Given the description of an element on the screen output the (x, y) to click on. 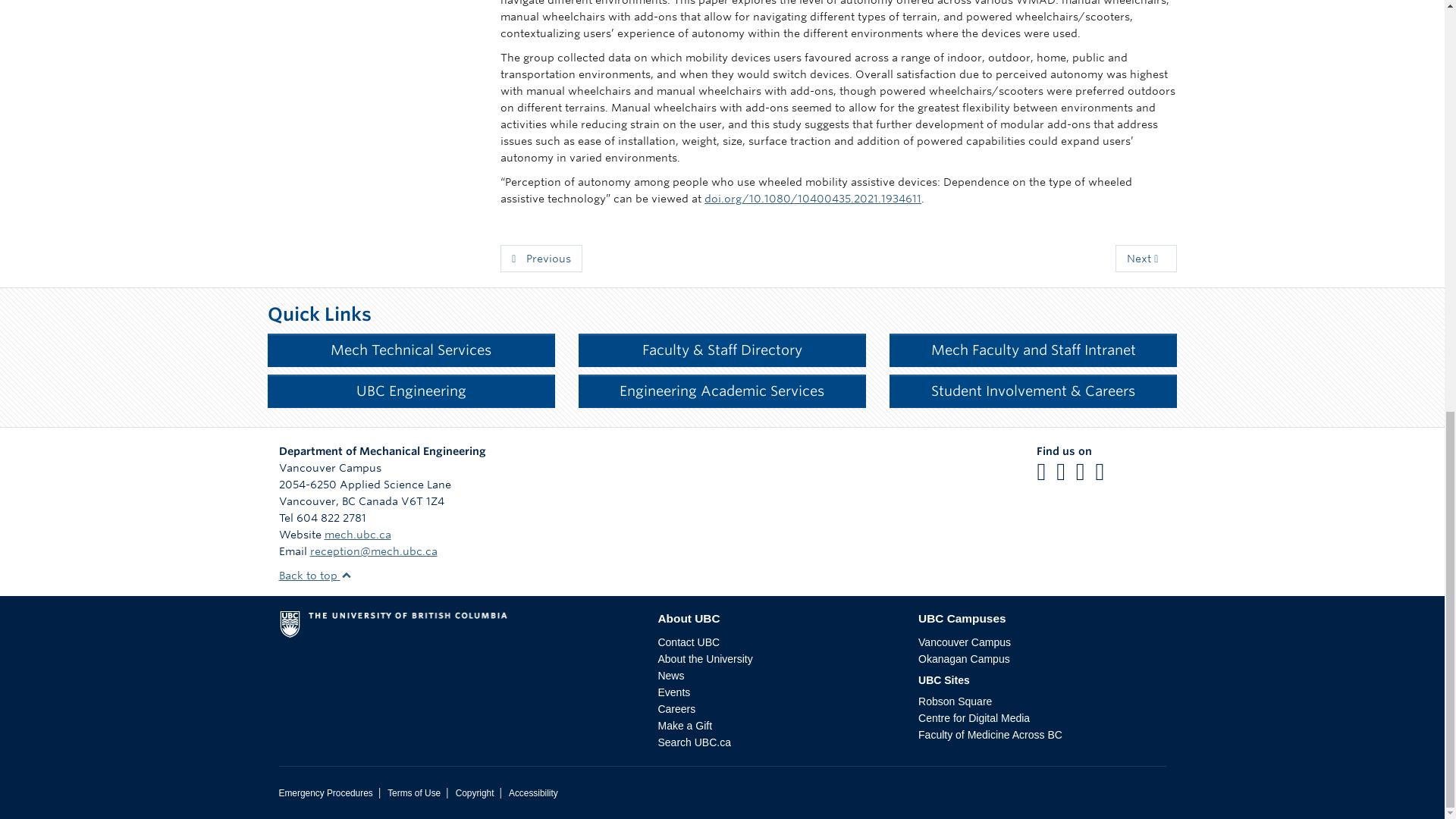
UBC Copyright (475, 792)
Accessibility (532, 792)
Emergency Procedures (325, 792)
Back to top (315, 575)
Terms of Use (414, 792)
